Given the description of an element on the screen output the (x, y) to click on. 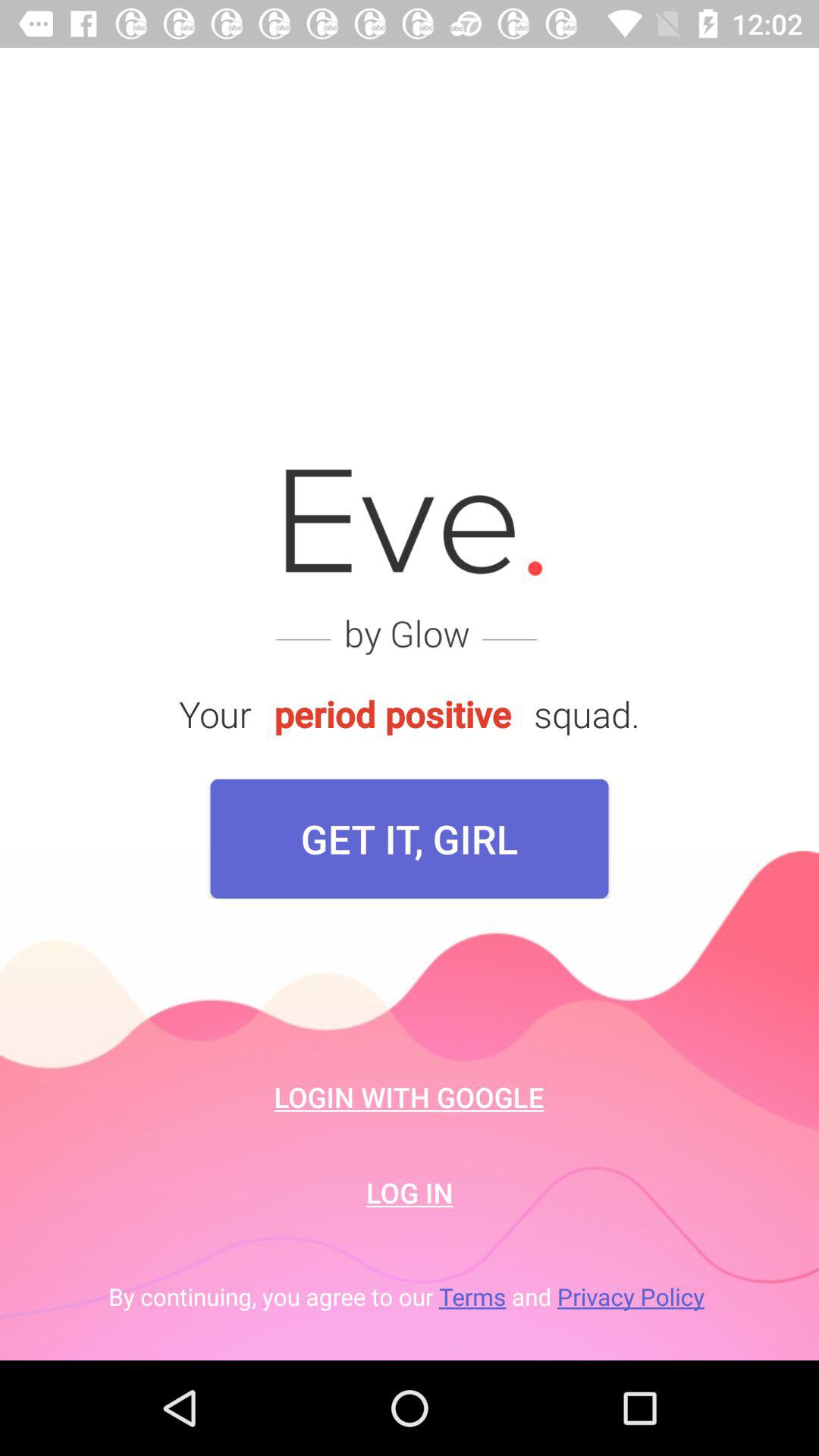
choose the item below your item (409, 838)
